Given the description of an element on the screen output the (x, y) to click on. 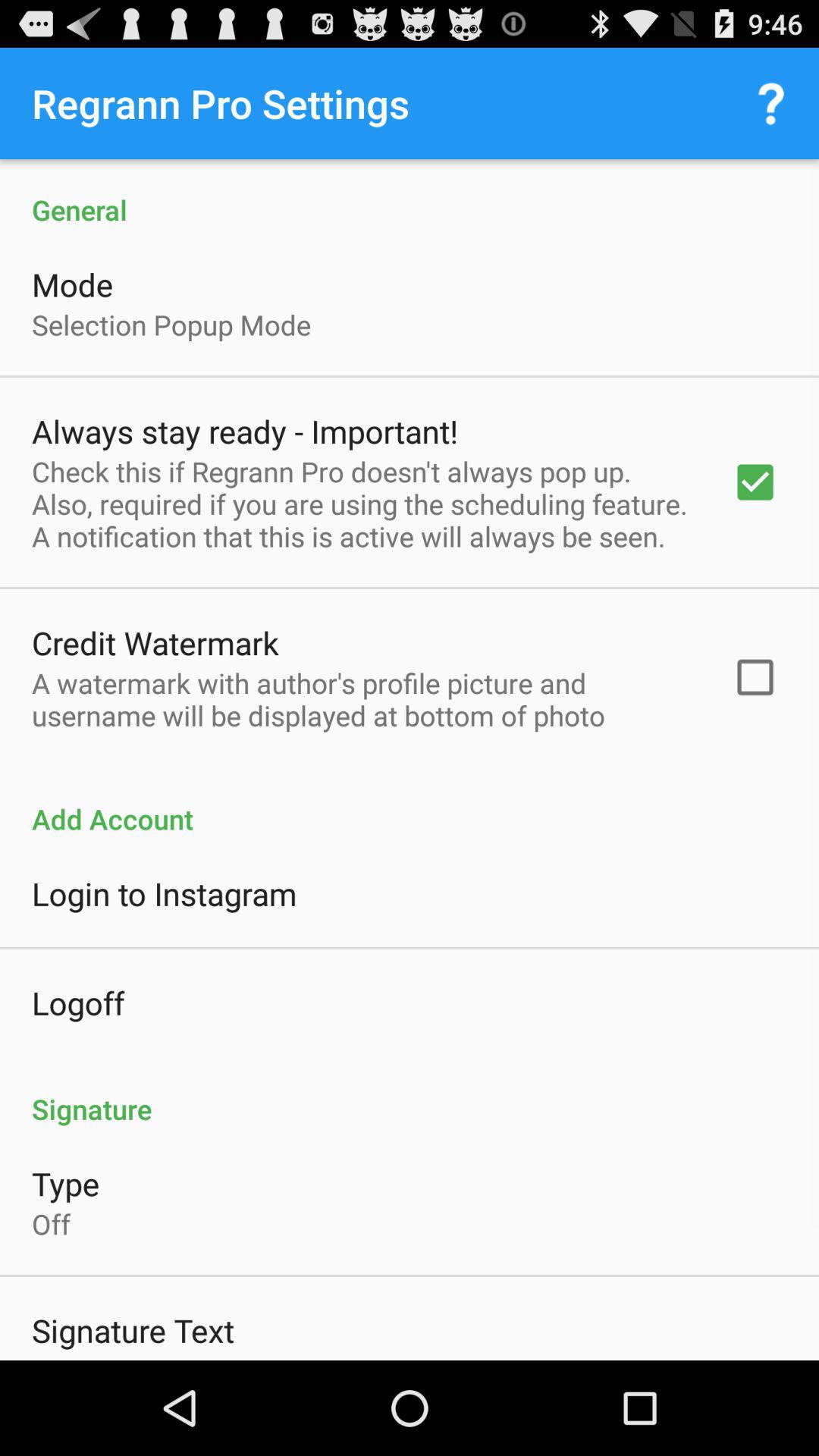
choose the item above check this if item (244, 430)
